Given the description of an element on the screen output the (x, y) to click on. 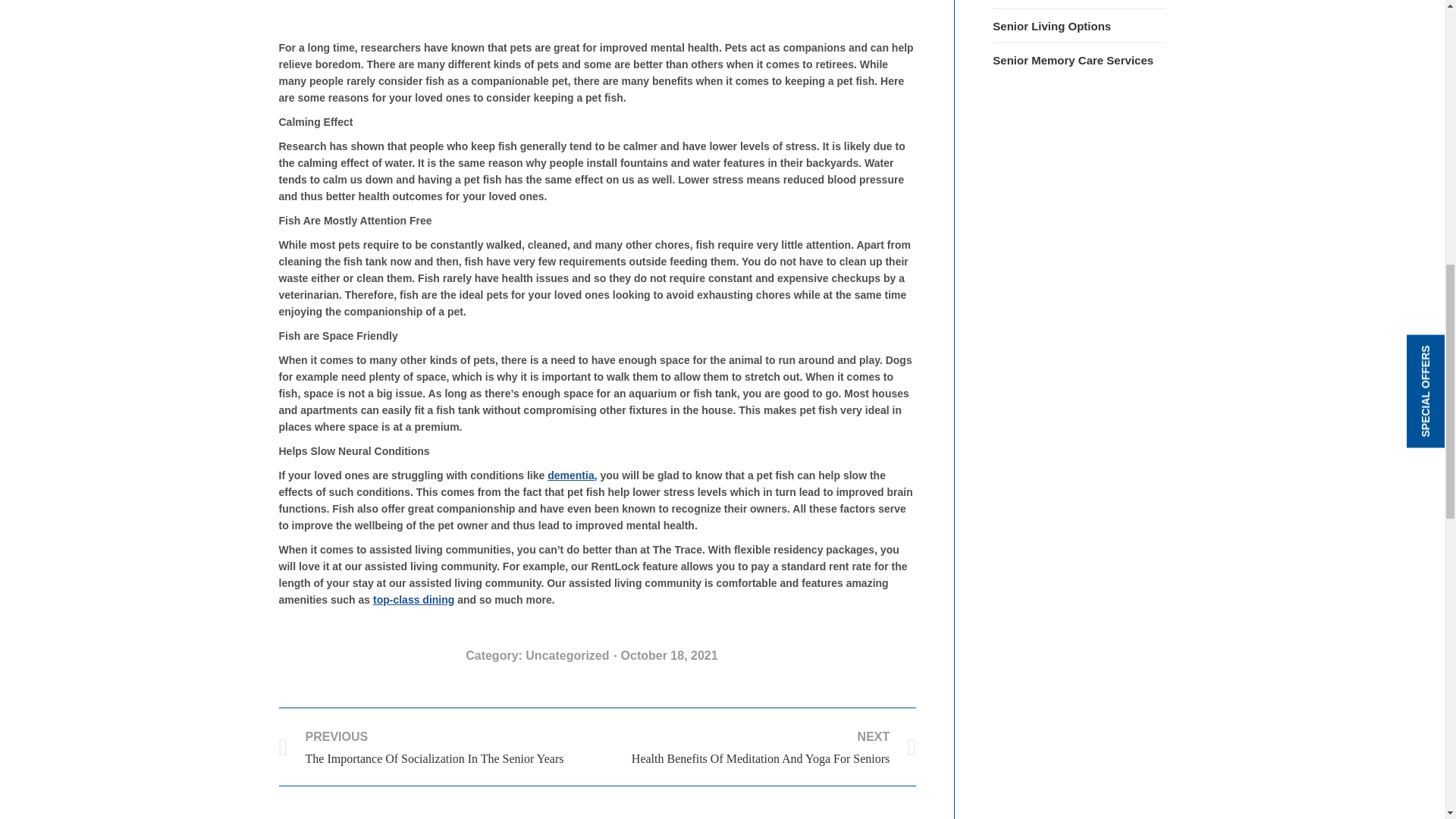
7:17 am (673, 655)
